Given the description of an element on the screen output the (x, y) to click on. 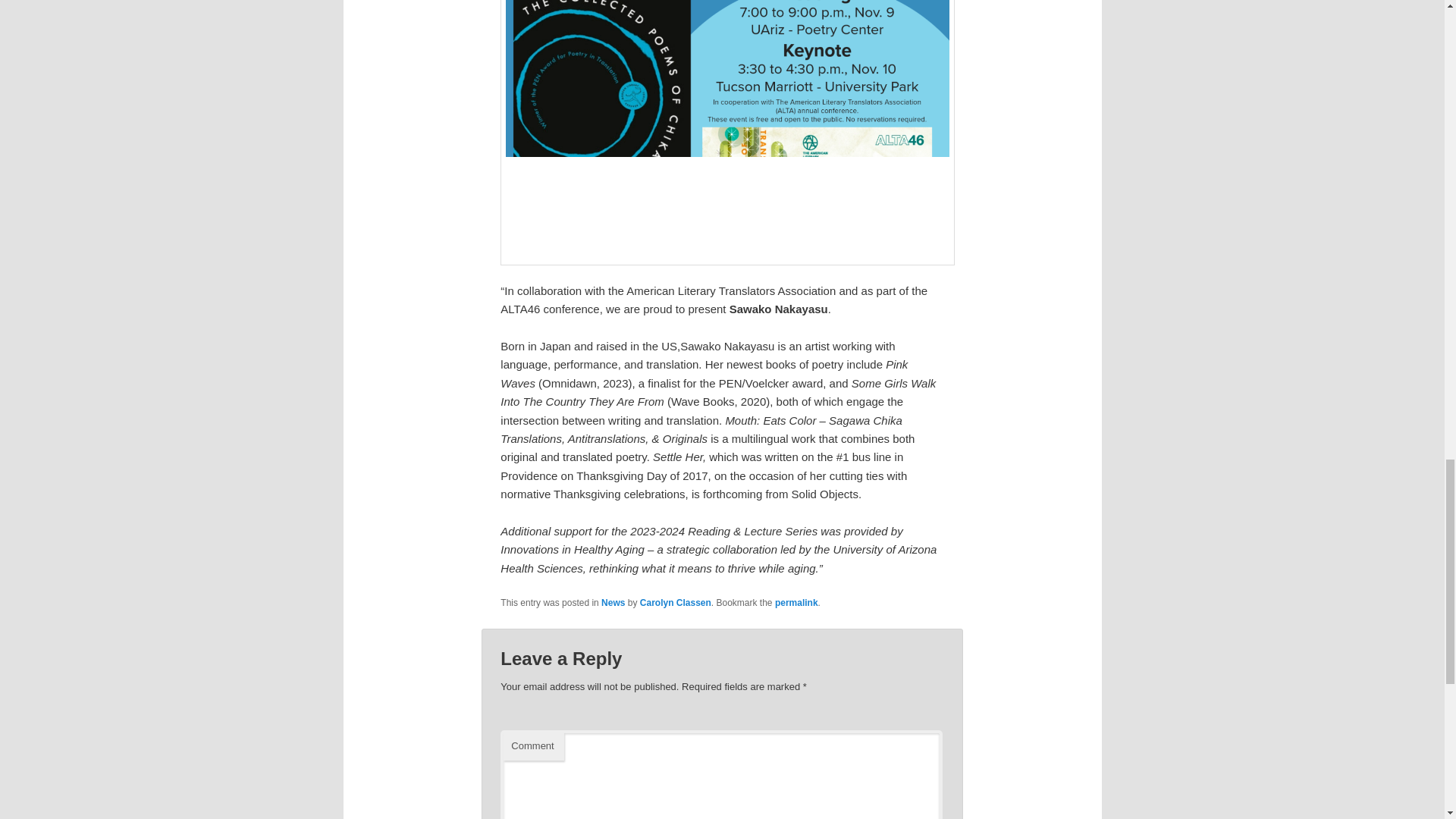
News (612, 602)
permalink (796, 602)
Carolyn Classen (675, 602)
